Given the description of an element on the screen output the (x, y) to click on. 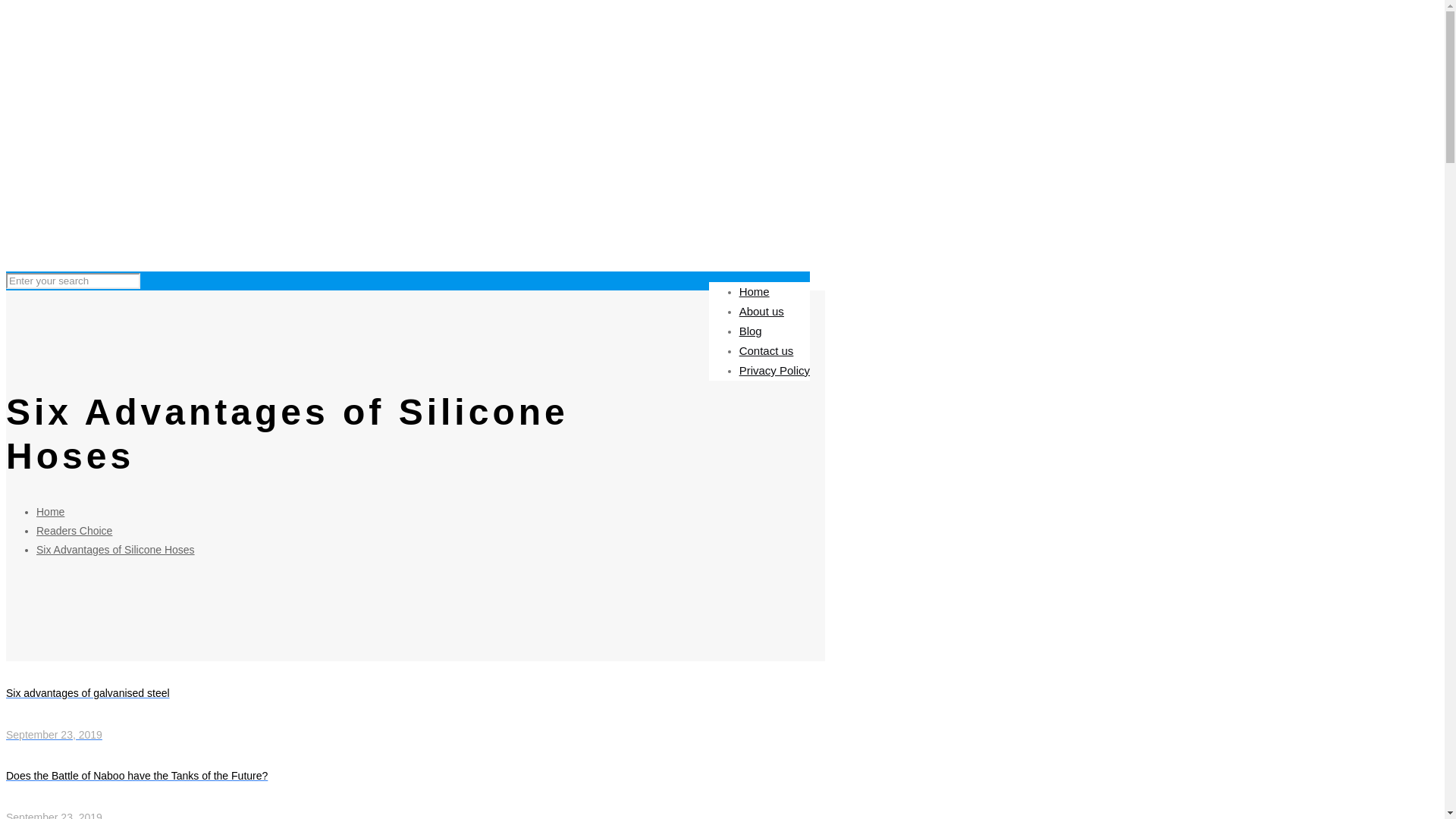
Privacy Policy (774, 369)
Home (415, 715)
Contact us (50, 511)
Readers Choice (766, 350)
Six Advantages of Silicone Hoses (74, 530)
E Report (115, 549)
